Given the description of an element on the screen output the (x, y) to click on. 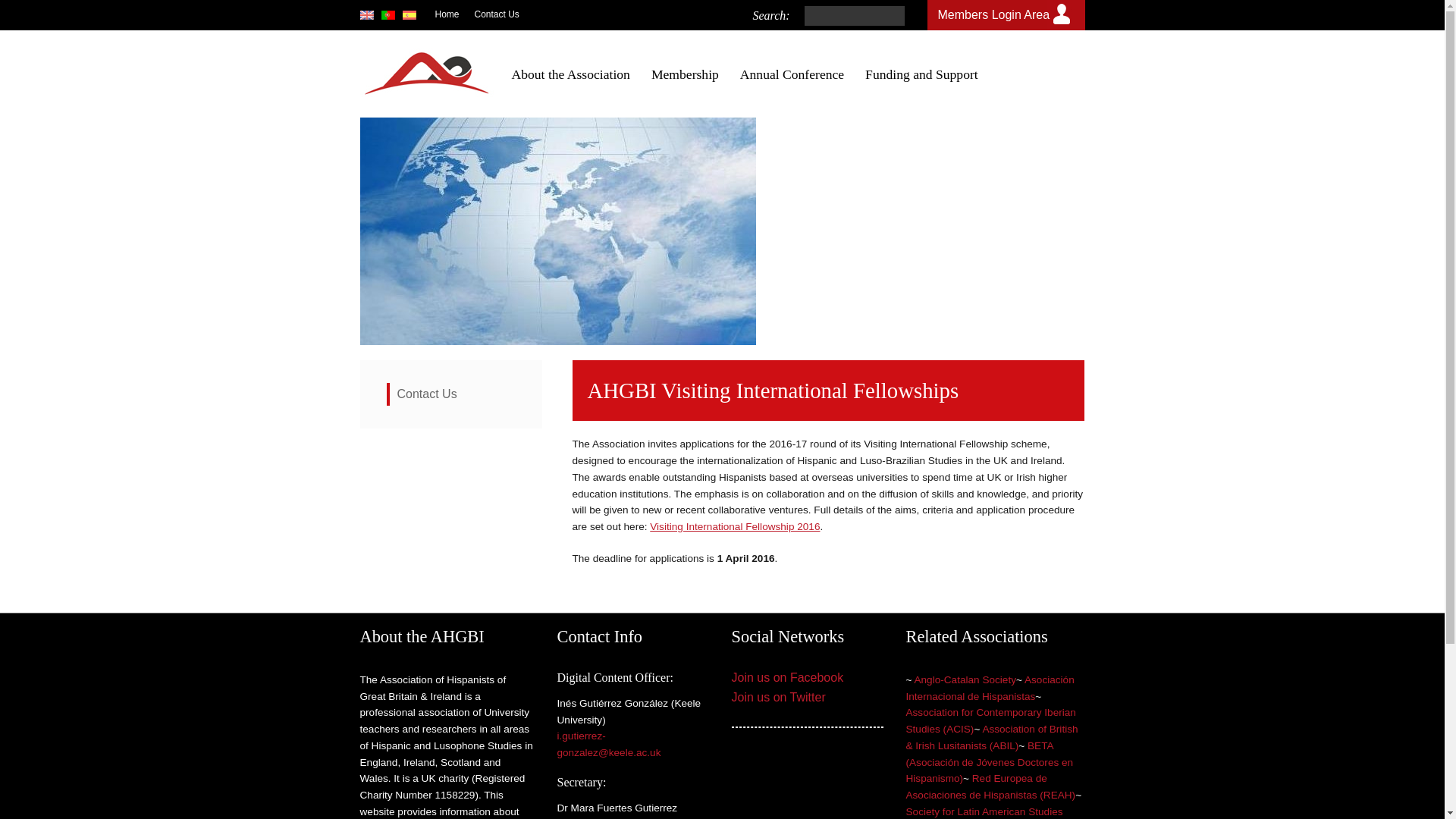
Join us on Twitter (777, 697)
Anglo-Catalan Society (965, 679)
Members Login Area (993, 14)
Visiting International Fellowship 2016 (734, 526)
Membership (684, 73)
Home (447, 14)
About the Association (569, 73)
Contact Us (496, 14)
Annual Conference (791, 73)
Funding and Support (921, 73)
Join us on Facebook (786, 676)
Contact Us (427, 393)
